Given the description of an element on the screen output the (x, y) to click on. 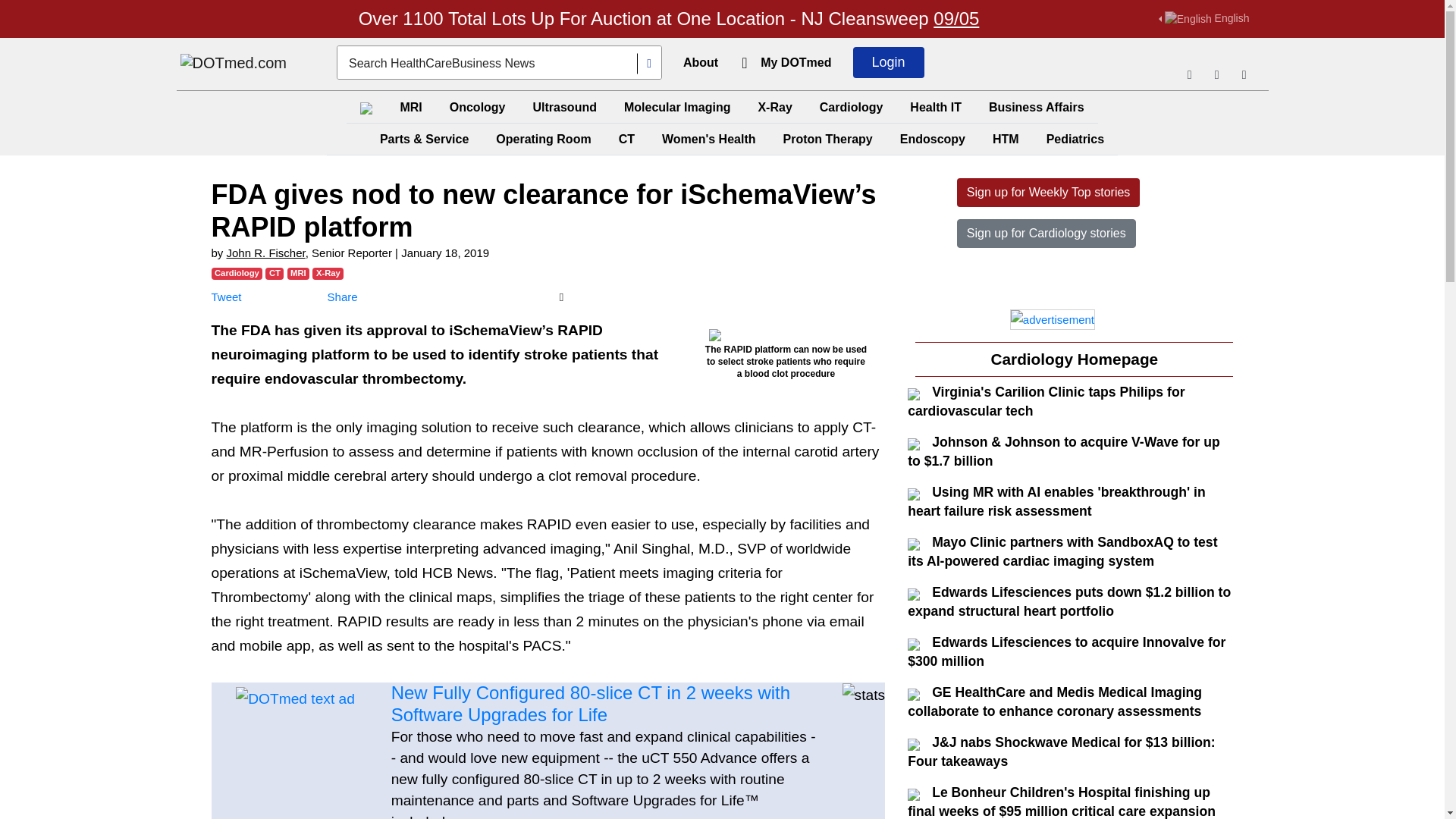
Health IT (936, 106)
CT (626, 138)
Oncology (478, 106)
Molecular Imaging (676, 106)
More news from John R. Fischer (266, 252)
MRI (410, 106)
DOTmed News (233, 63)
My DOTmed (795, 61)
About (700, 61)
Business Affairs (1036, 106)
